Given the description of an element on the screen output the (x, y) to click on. 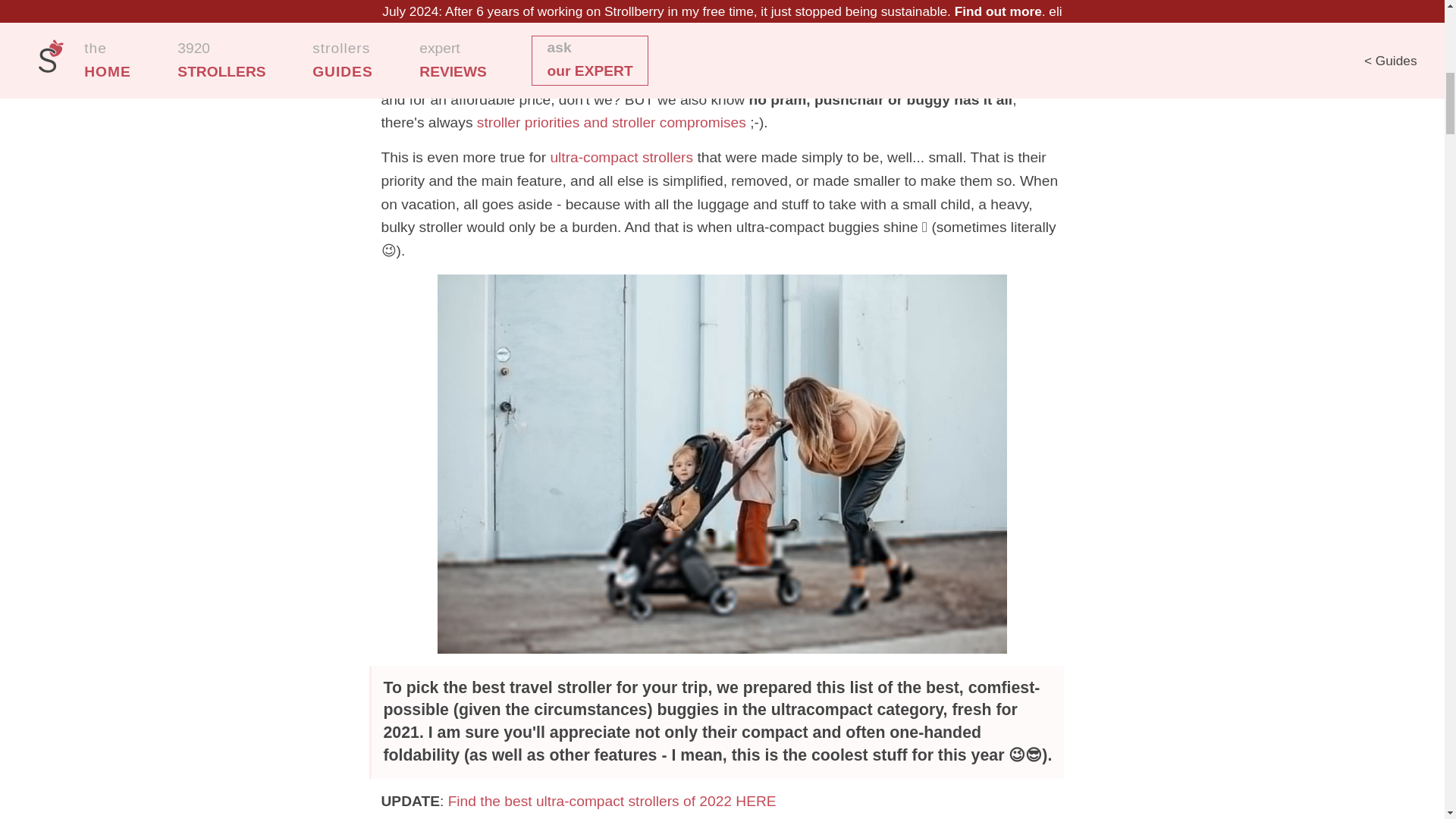
ultra-compact strollers (621, 157)
Find the best ultra-compact strollers of 2022 HERE (612, 801)
stroller priorities and stroller compromises (611, 122)
